Given the description of an element on the screen output the (x, y) to click on. 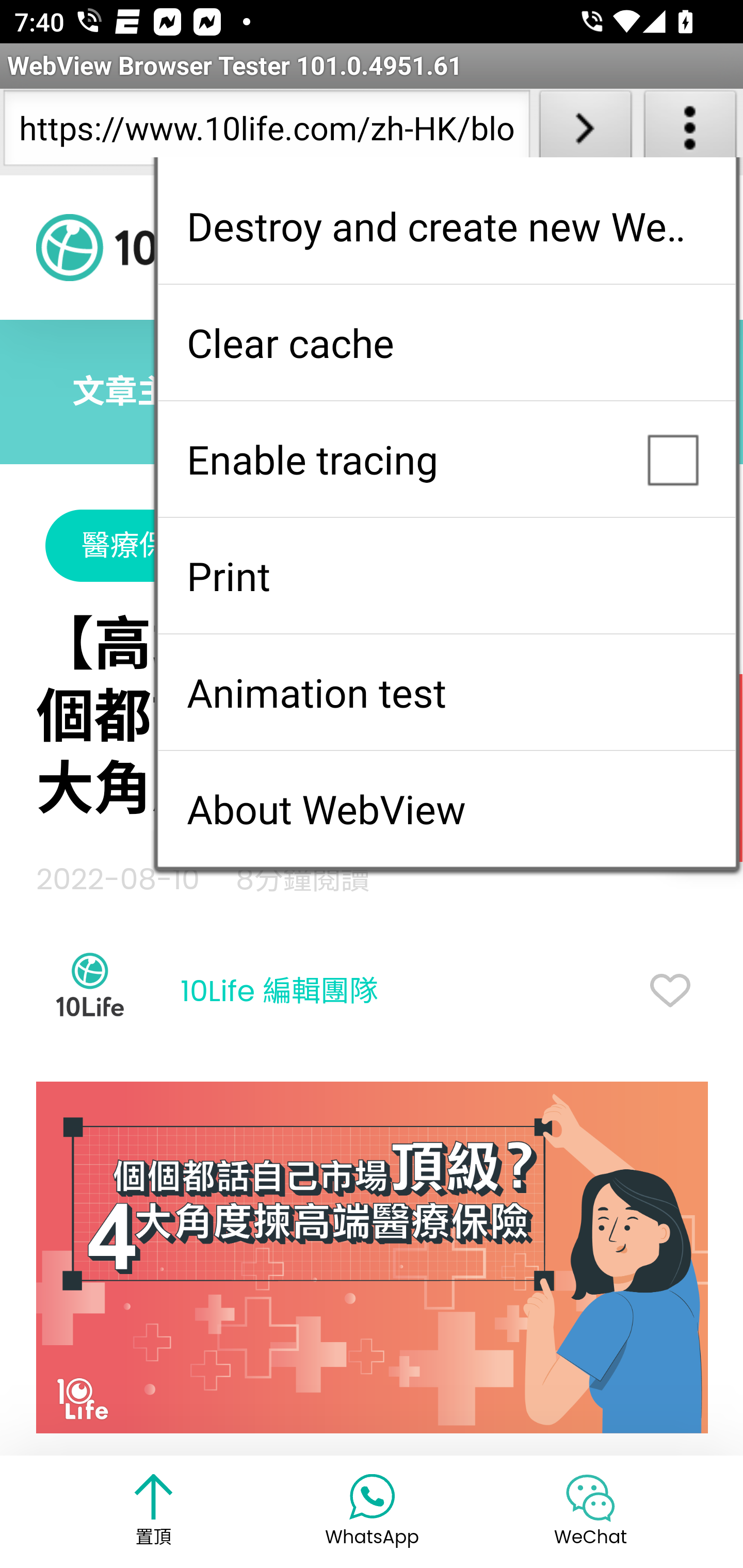
Destroy and create new WebView (446, 225)
Clear cache (446, 342)
Enable tracing (446, 459)
Print (446, 575)
Animation test (446, 692)
About WebView (446, 809)
